Given the description of an element on the screen output the (x, y) to click on. 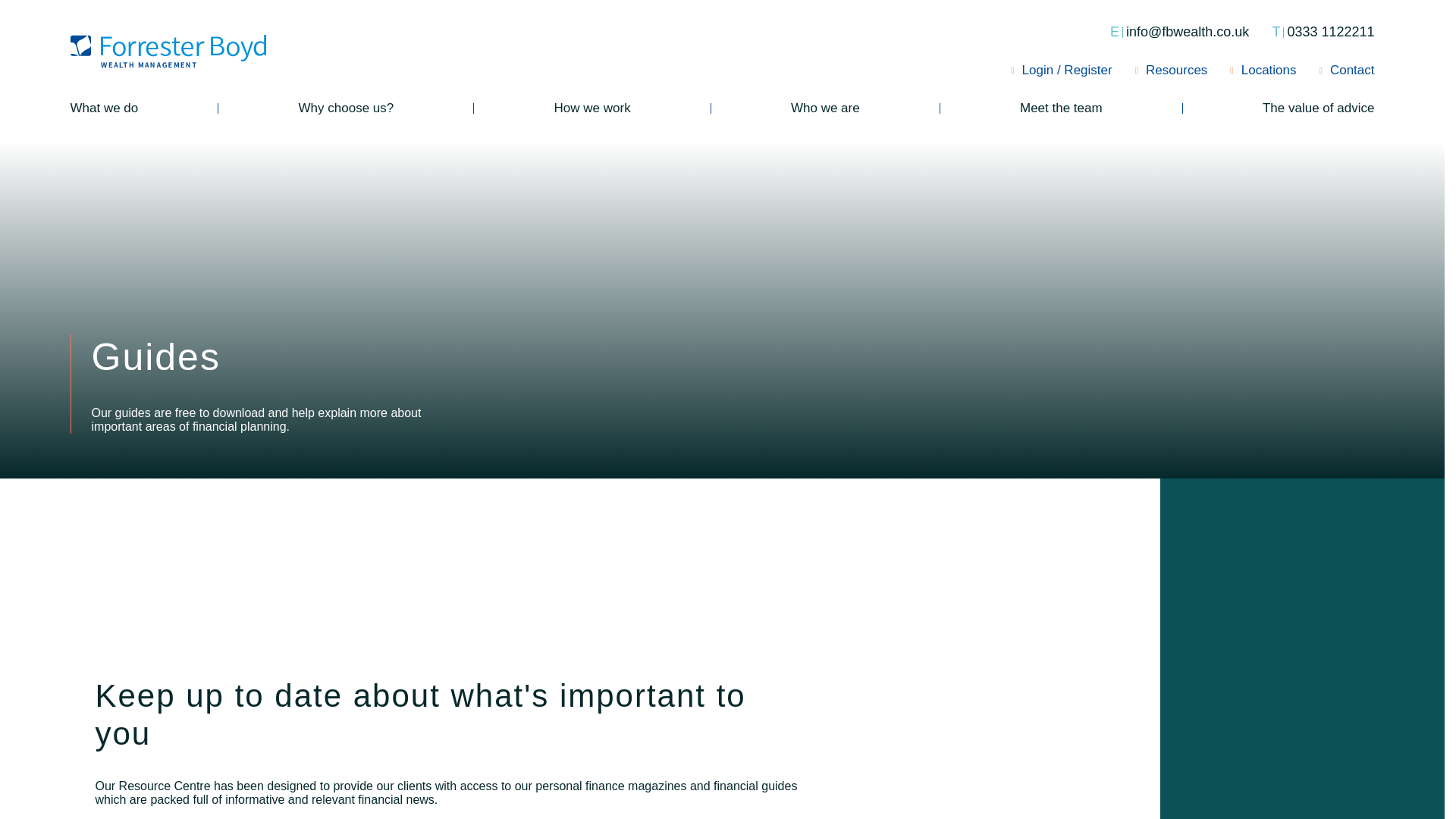
Resources (1171, 70)
Who we are (825, 108)
Why choose us? (346, 108)
Meet the team (1061, 108)
What we do (103, 108)
The value of advice (1318, 108)
Locations (1262, 70)
Contact (1346, 70)
How we work (1322, 32)
